Given the description of an element on the screen output the (x, y) to click on. 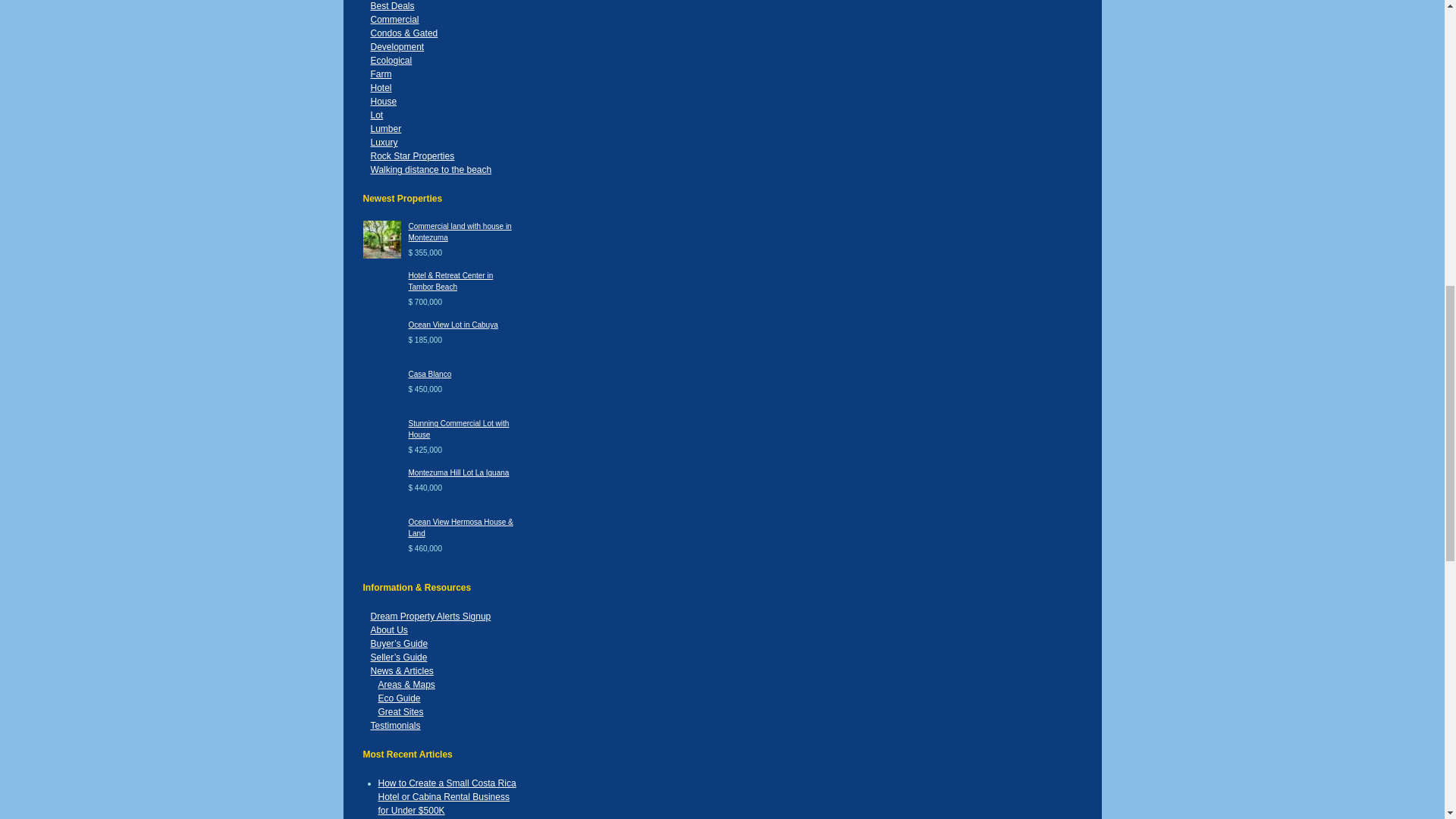
Farm (380, 73)
House (382, 101)
Development (396, 46)
Best Deals (391, 5)
Lot (375, 114)
Ecological (390, 60)
Hotel (380, 87)
Commercial (394, 19)
